Given the description of an element on the screen output the (x, y) to click on. 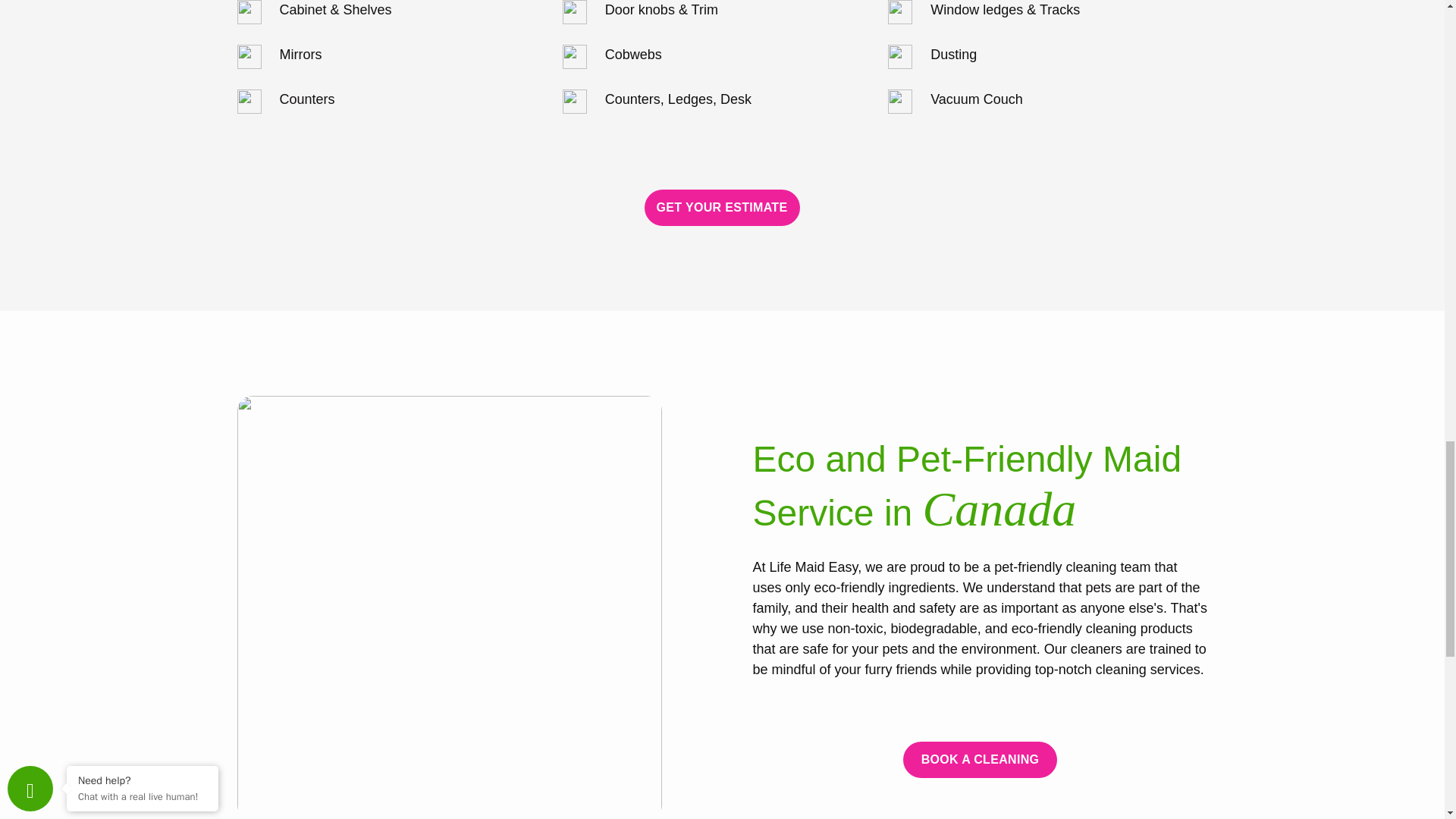
BOOK A CLEANING (980, 760)
GET YOUR ESTIMATE (722, 207)
